Given the description of an element on the screen output the (x, y) to click on. 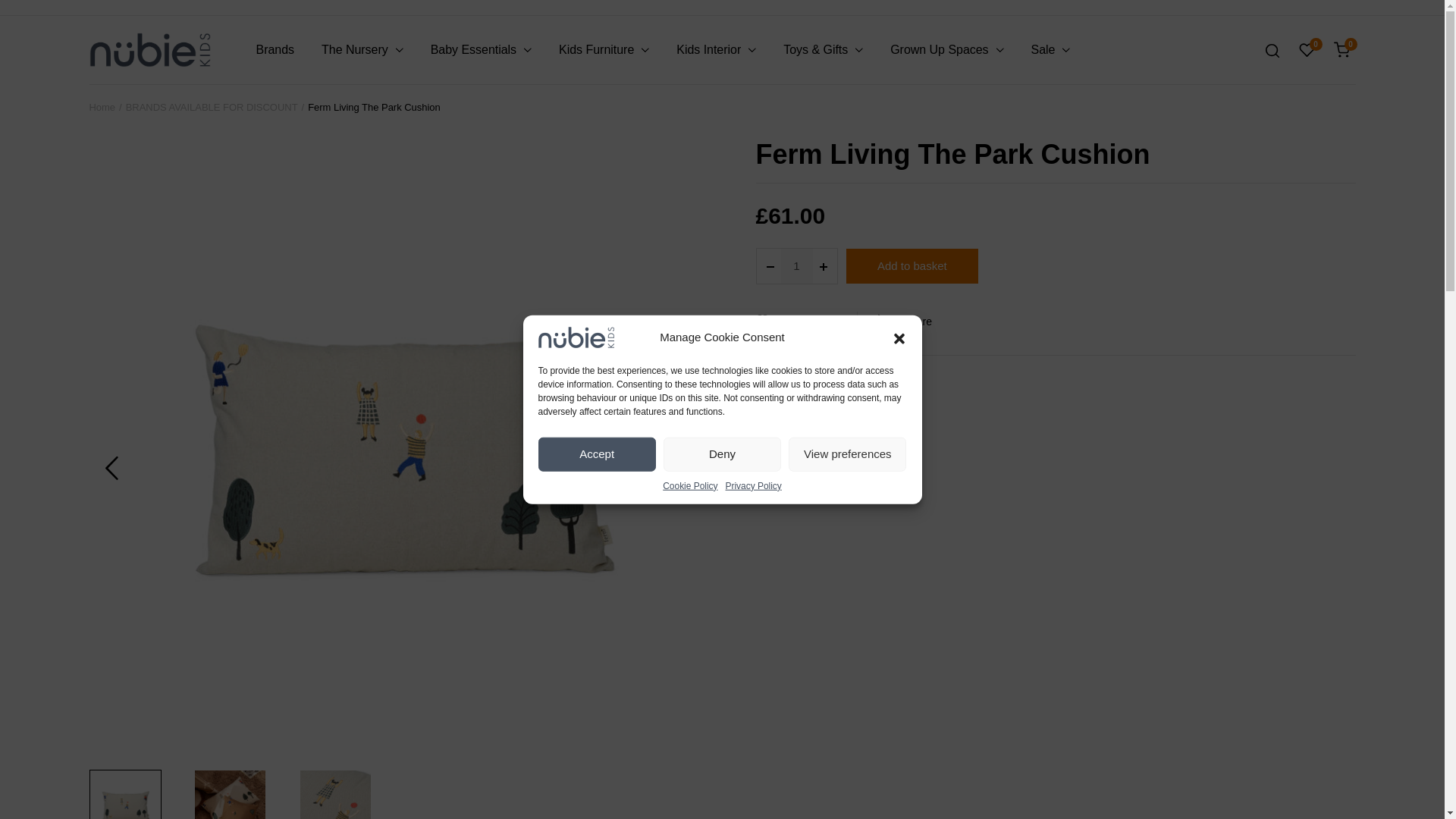
Baby Essentials (480, 49)
Deny (721, 453)
The Nursery (362, 49)
Accept (597, 453)
Privacy Policy (753, 485)
View preferences (847, 453)
Nubie Kids (149, 49)
1 (796, 265)
Cookie Policy (689, 485)
